Given the description of an element on the screen output the (x, y) to click on. 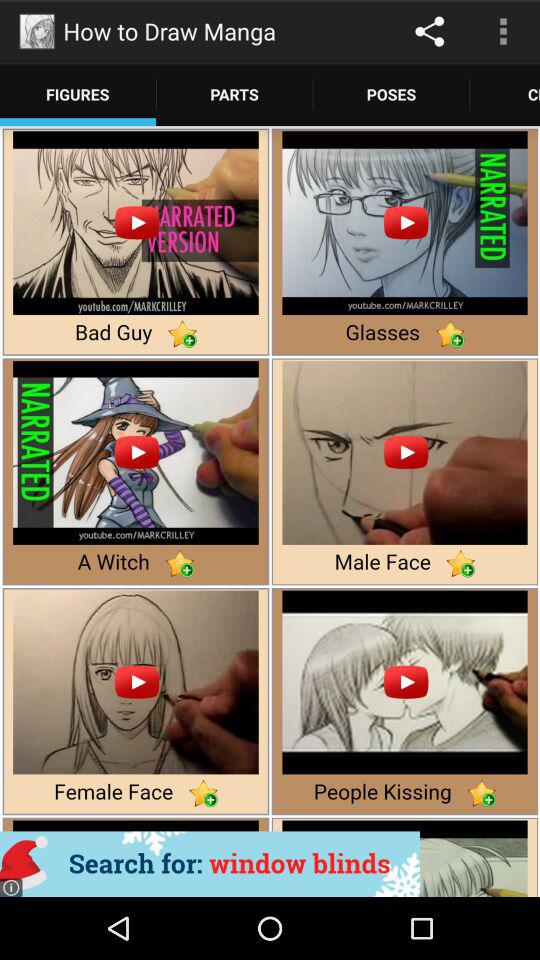
advertisement (210, 864)
